Given the description of an element on the screen output the (x, y) to click on. 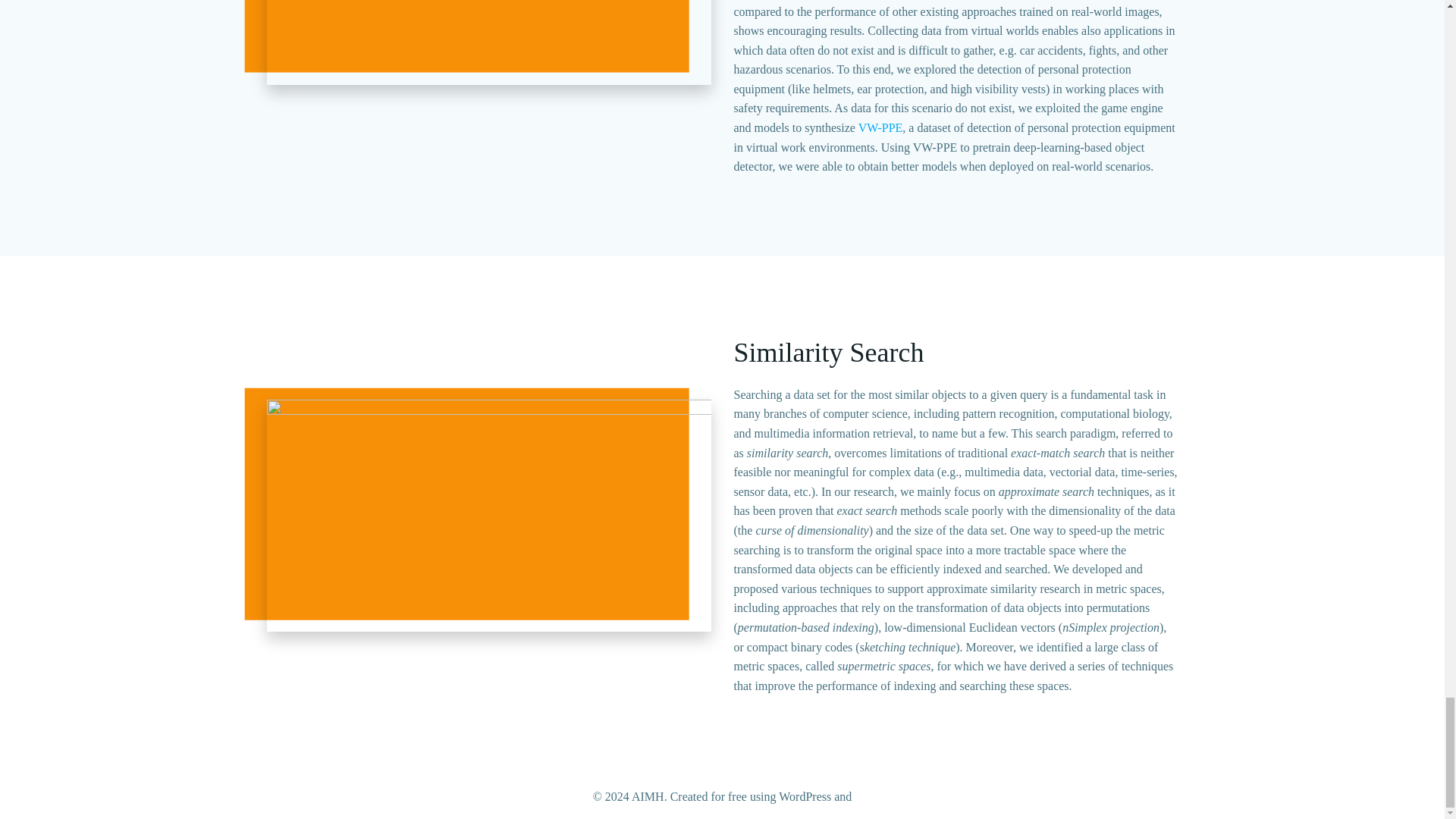
VW-PPE (880, 127)
